Given the description of an element on the screen output the (x, y) to click on. 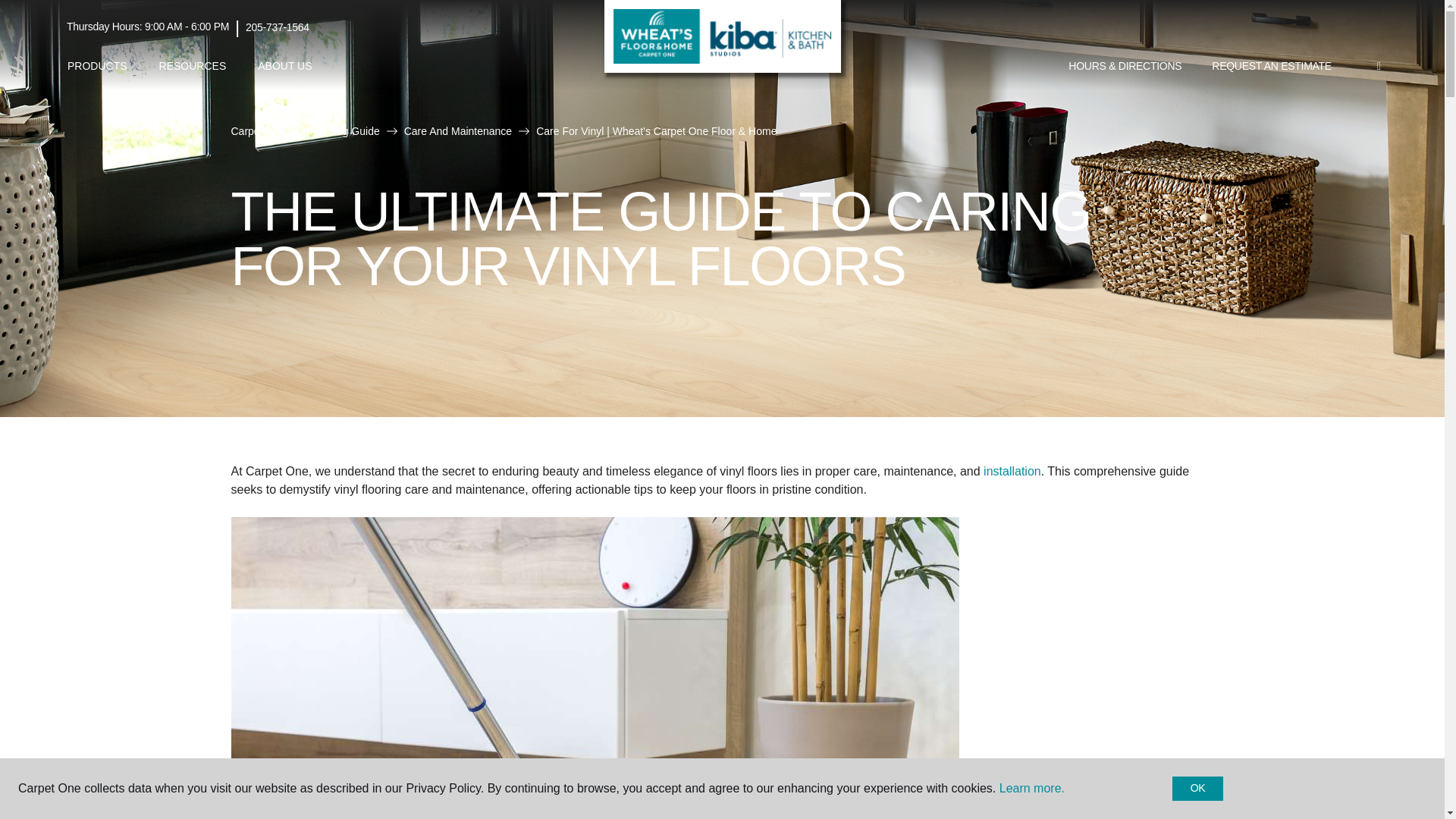
ABOUT US (284, 66)
205-737-1564 (277, 27)
REQUEST AN ESTIMATE (1271, 66)
PRODUCTS (97, 66)
RESOURCES (193, 66)
